Given the description of an element on the screen output the (x, y) to click on. 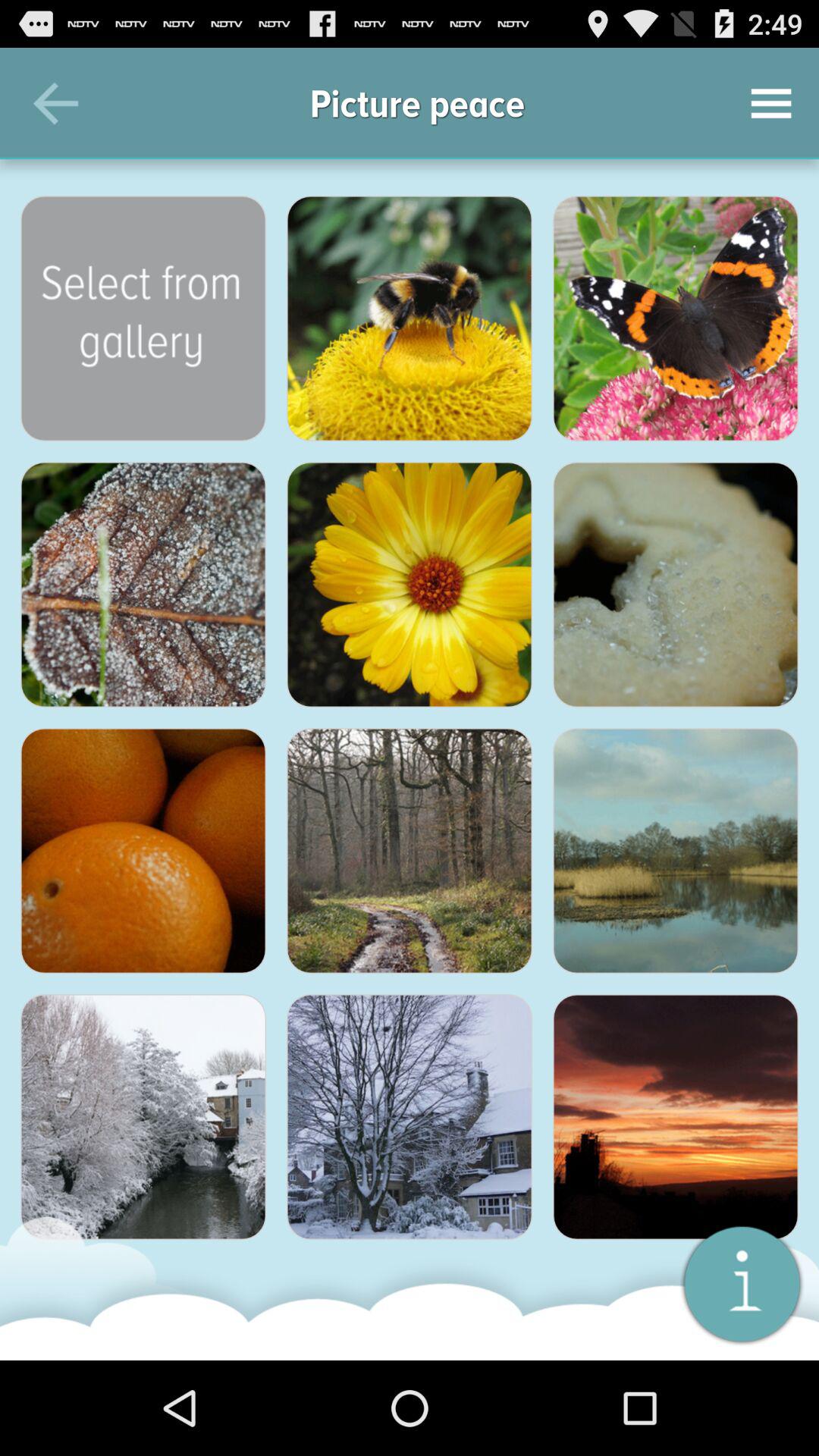
select picture (143, 1116)
